Given the description of an element on the screen output the (x, y) to click on. 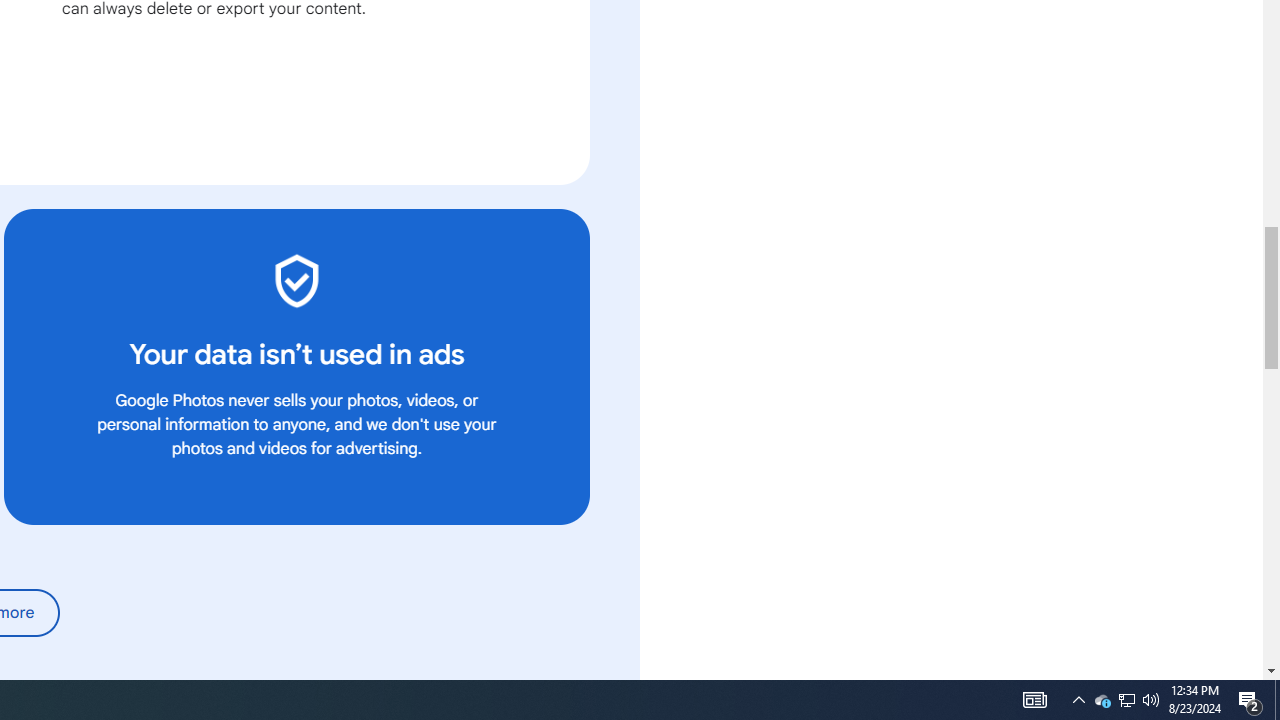
A checkmark icon. (295, 280)
